Given the description of an element on the screen output the (x, y) to click on. 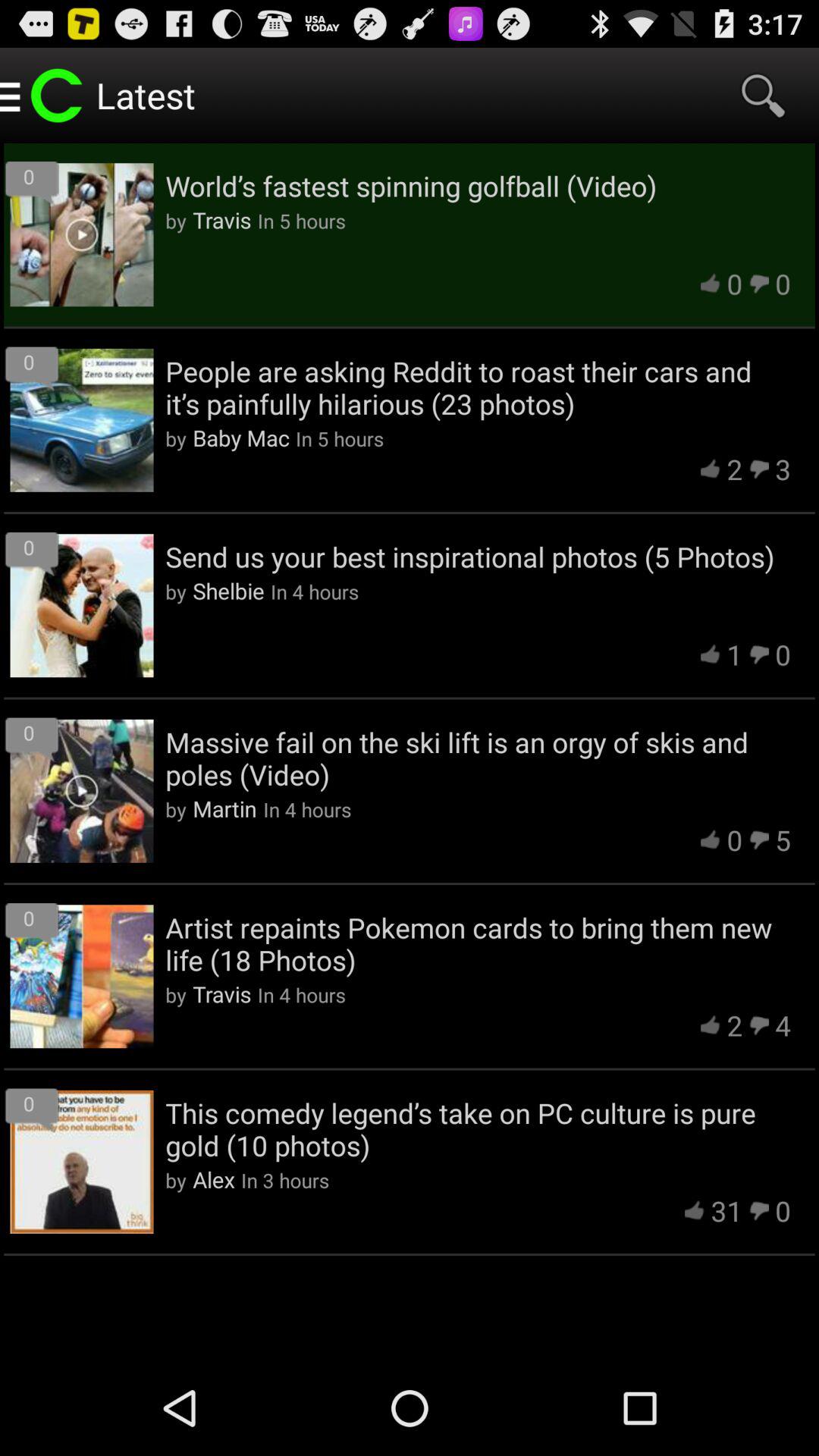
turn off icon to the right of the by (240, 437)
